Given the description of an element on the screen output the (x, y) to click on. 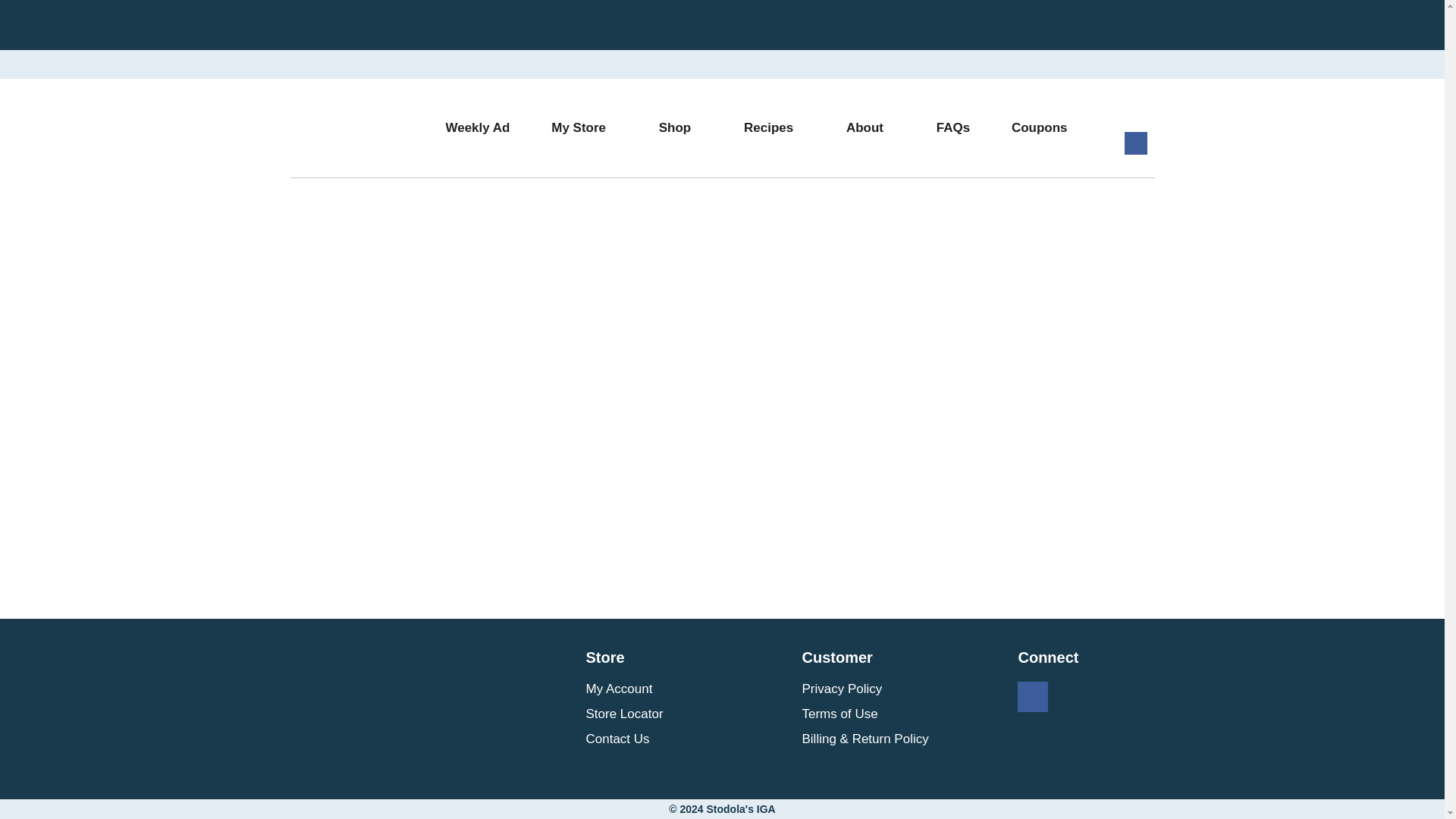
Facebook (1032, 698)
Terms of Use (839, 713)
My Account (618, 688)
Facebook (1135, 150)
FAQs (956, 127)
Contact Us (617, 739)
Shop (684, 127)
My Store (587, 127)
Recipes (778, 127)
Privacy Policy (842, 688)
Weekly Ad (480, 127)
About (874, 127)
Store Locator (623, 713)
Coupons (1042, 127)
